Given the description of an element on the screen output the (x, y) to click on. 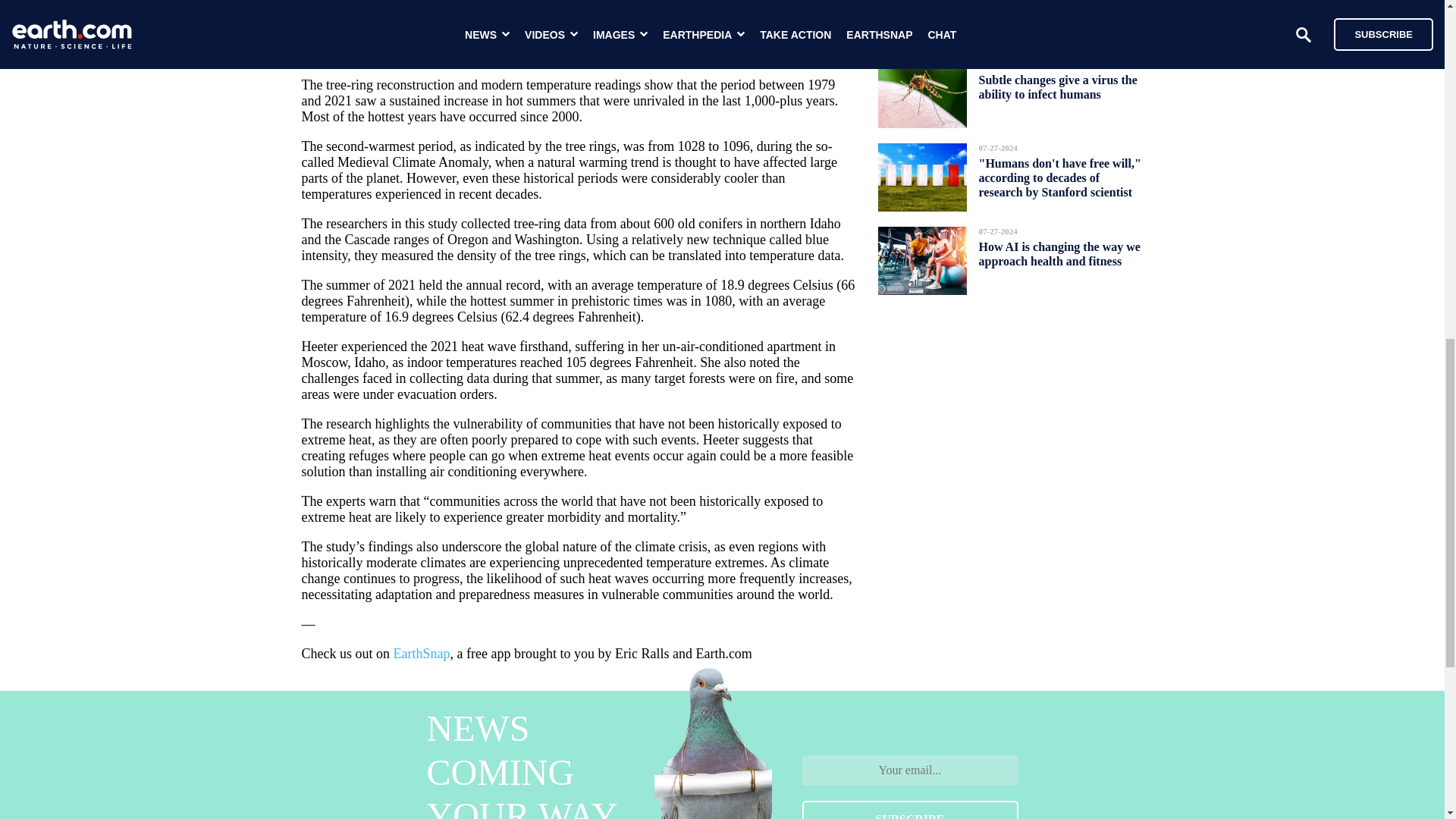
EarthSnap (421, 653)
SUBSCRIBE (909, 809)
Lamont-Doherty Earth Observatory (578, 15)
How AI is changing the way we approach health and fitness (1059, 253)
Quantum dance of entangled photons captured in real-time (1055, 12)
Subtle changes give a virus the ability to infect humans (1057, 87)
